Given the description of an element on the screen output the (x, y) to click on. 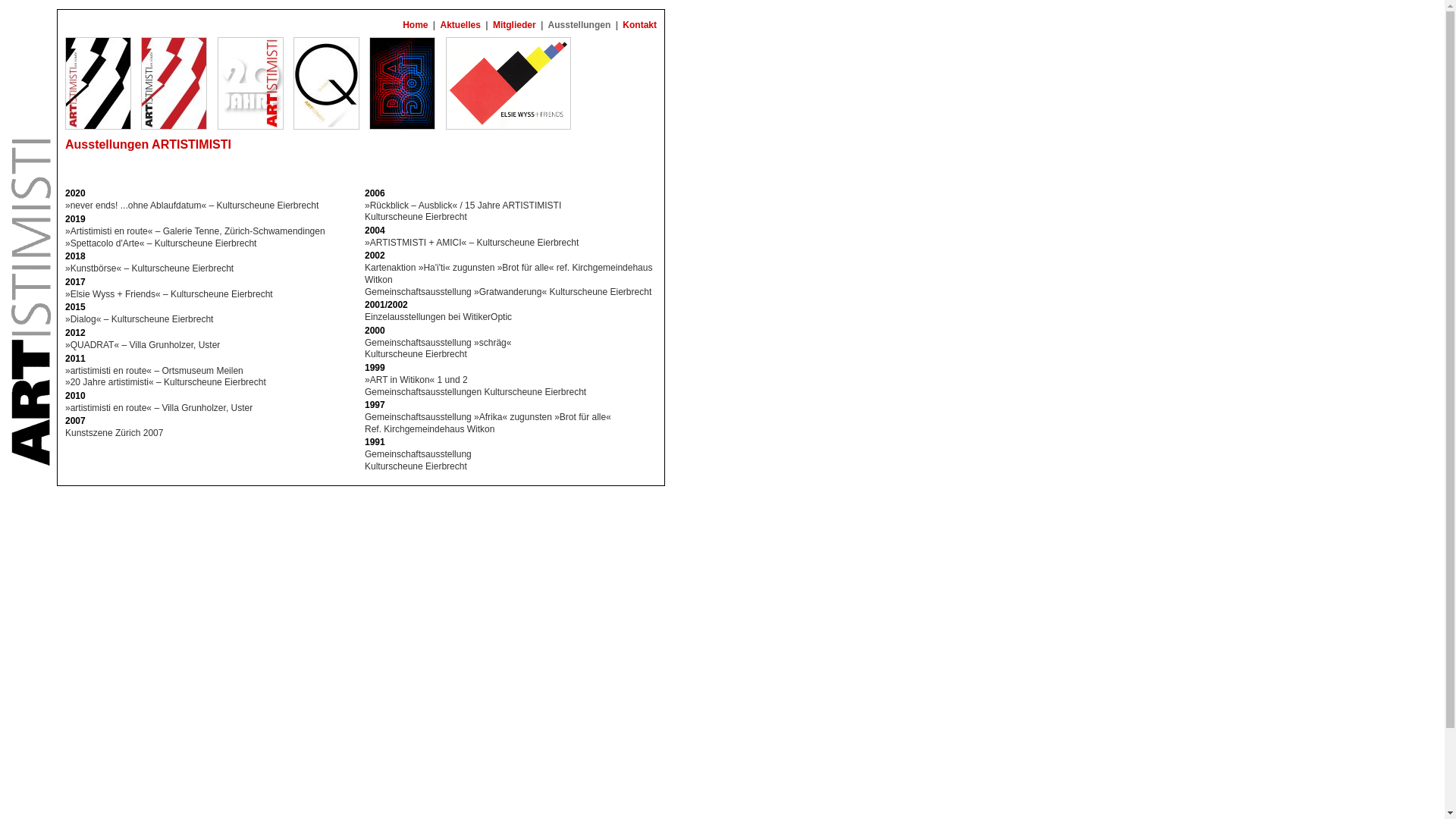
Plaktatgrafik: Pia Franco Element type: hover (326, 83)
Plaktatgrafik: Pia Franco Element type: hover (174, 83)
Ausstellungen Element type: text (579, 24)
Plaktatgrafik: Pia Franco Element type: hover (98, 83)
Aktuelles Element type: text (460, 24)
Plaktatgrafik: Pia Franco Element type: hover (402, 83)
Home Element type: text (414, 24)
Plaktatgrafik: Pia Franco Element type: hover (250, 83)
Mitglieder Element type: text (514, 24)
Plaktatgrafik: Pia Franco Element type: hover (508, 83)
Kontakt Element type: text (639, 24)
